Given the description of an element on the screen output the (x, y) to click on. 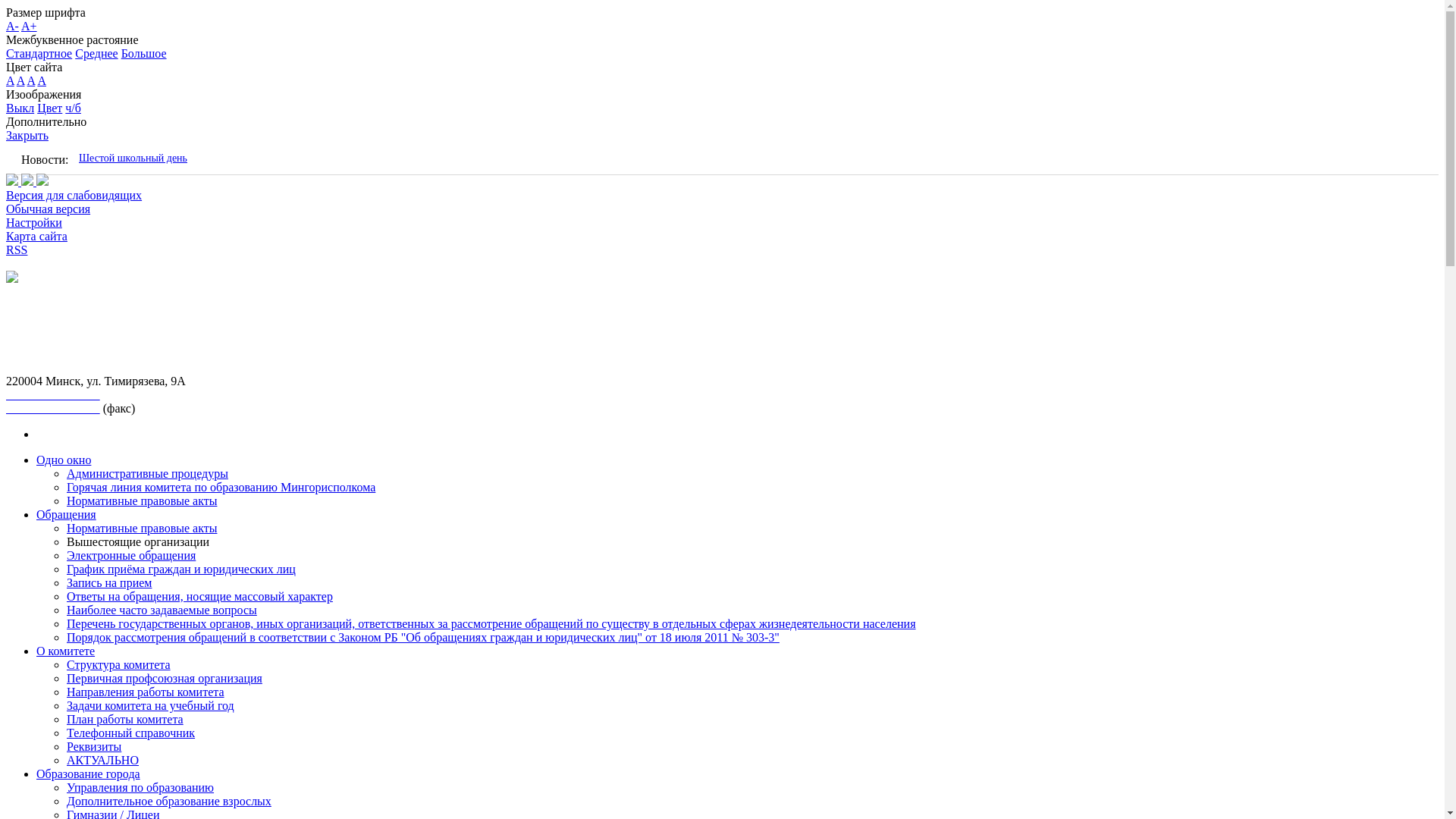
A Element type: text (31, 80)
A Element type: text (20, 80)
A Element type: text (10, 80)
A+ Element type: text (29, 25)
+375 17 347-19-60 Element type: text (53, 394)
+375 17 282-23-40 Element type: text (53, 407)
A- Element type: text (12, 25)
A Element type: text (41, 80)
RSS Element type: text (16, 249)
